Given the description of an element on the screen output the (x, y) to click on. 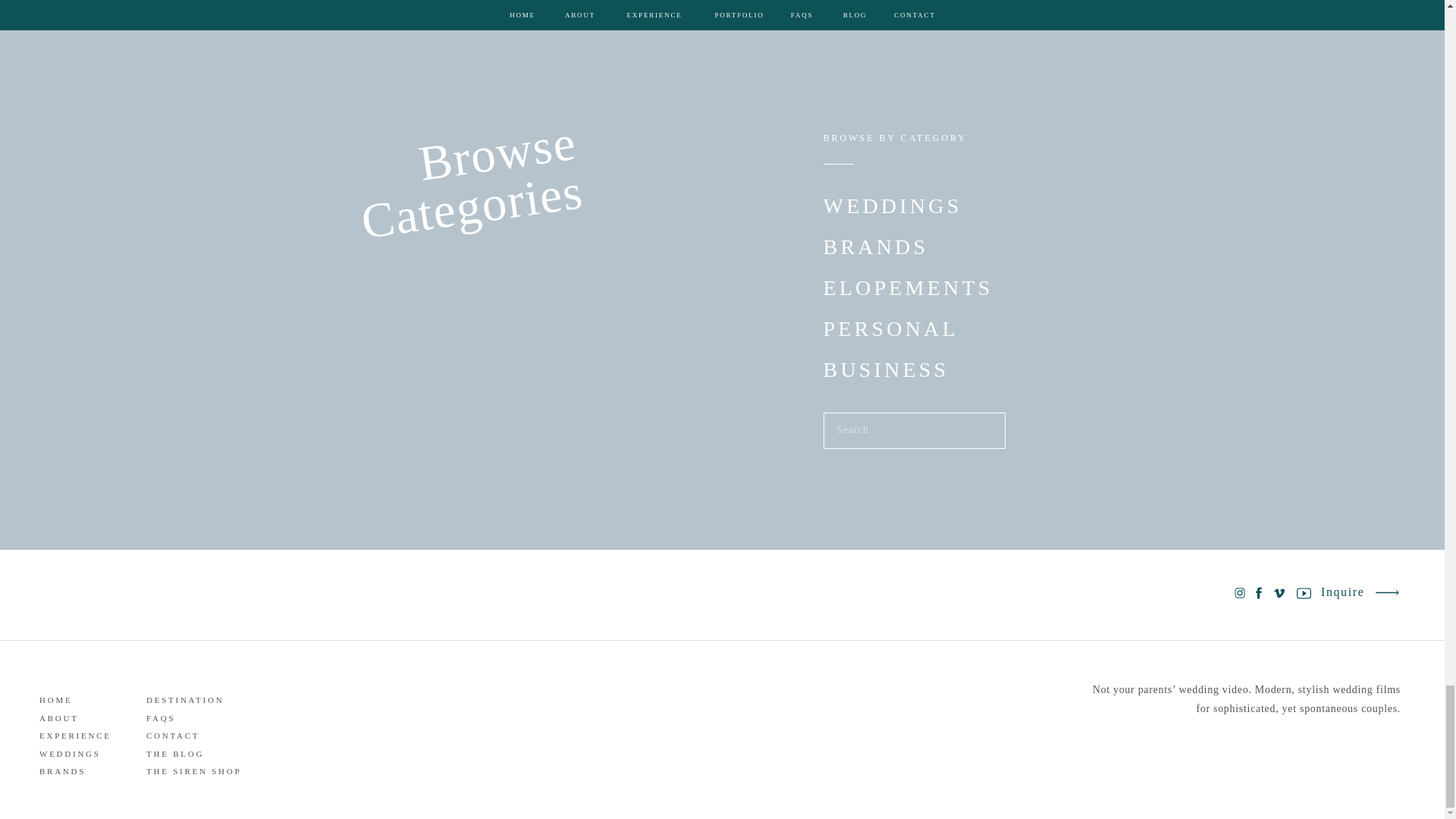
arrow (1386, 592)
